Given the description of an element on the screen output the (x, y) to click on. 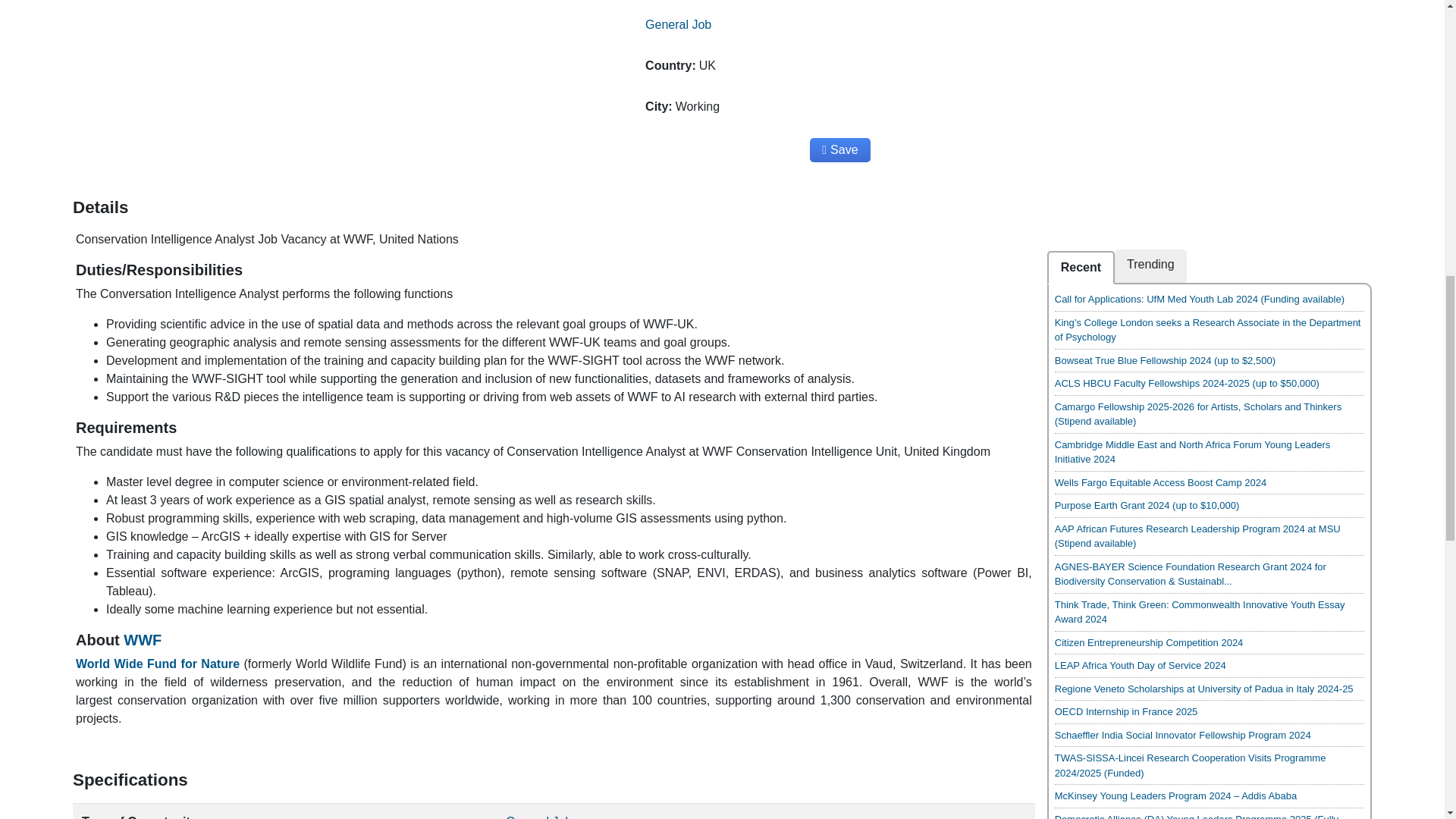
Save the opportunity to view it easily afterwards (839, 150)
